Given the description of an element on the screen output the (x, y) to click on. 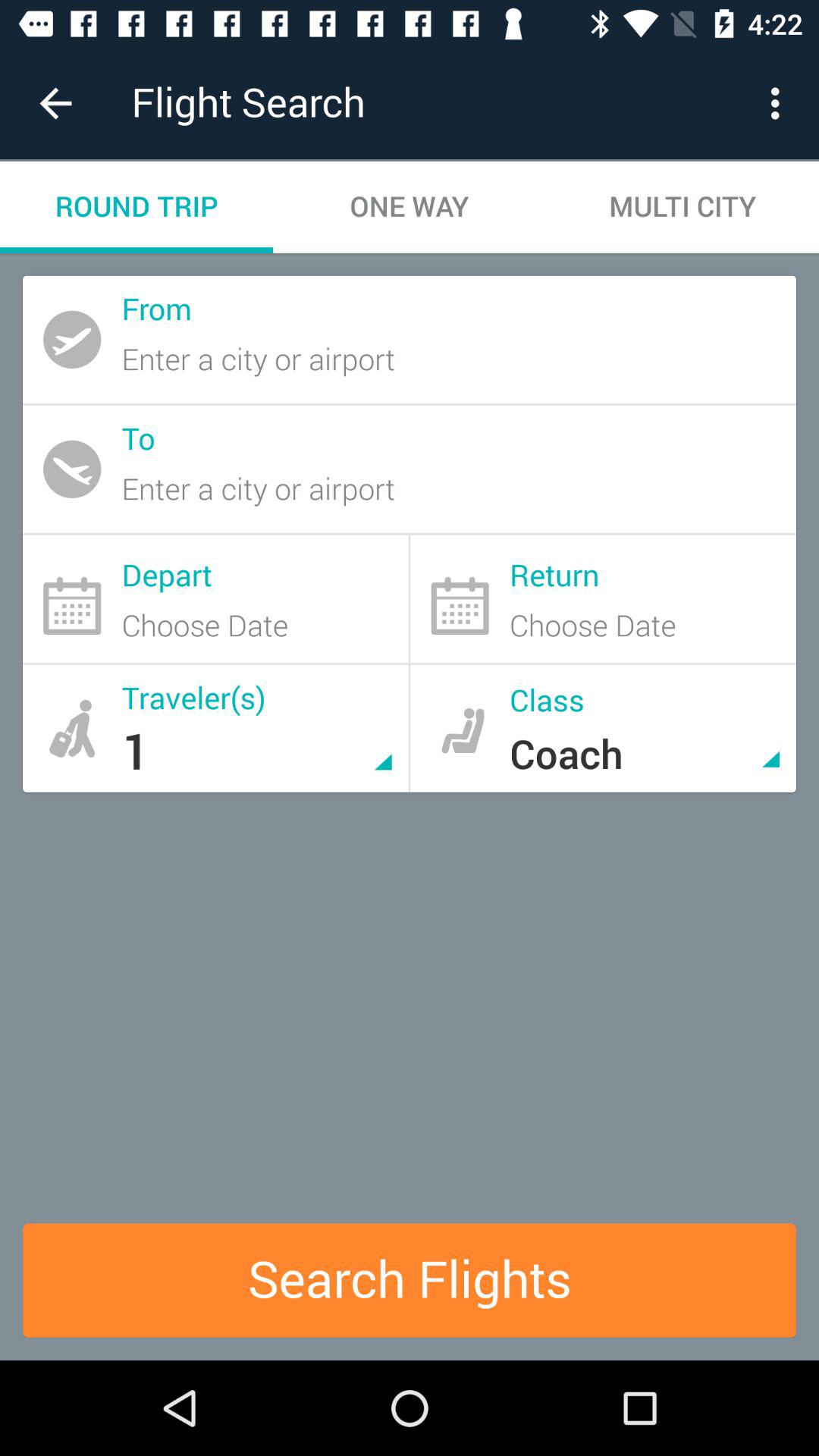
select the item next to round trip (409, 207)
